Given the description of an element on the screen output the (x, y) to click on. 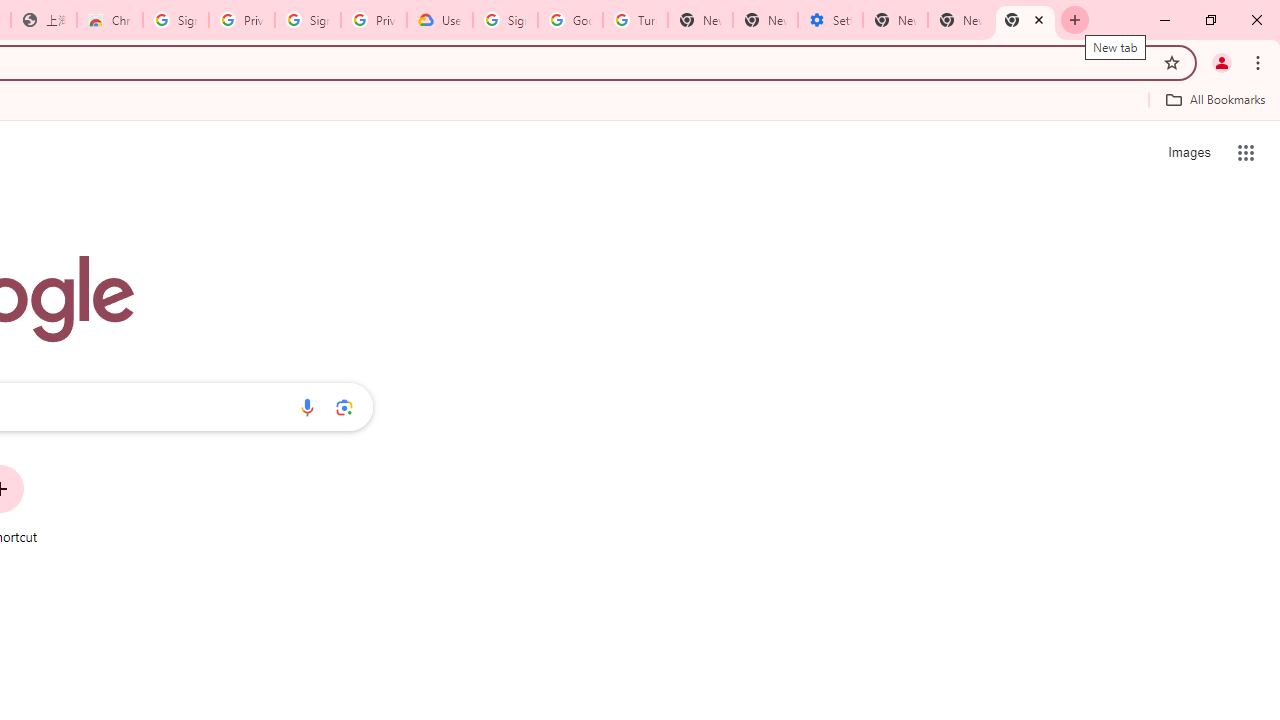
Sign in - Google Accounts (504, 20)
Search for Images  (1188, 152)
Sign in - Google Accounts (175, 20)
Sign in - Google Accounts (307, 20)
Search by image (344, 407)
